Given the description of an element on the screen output the (x, y) to click on. 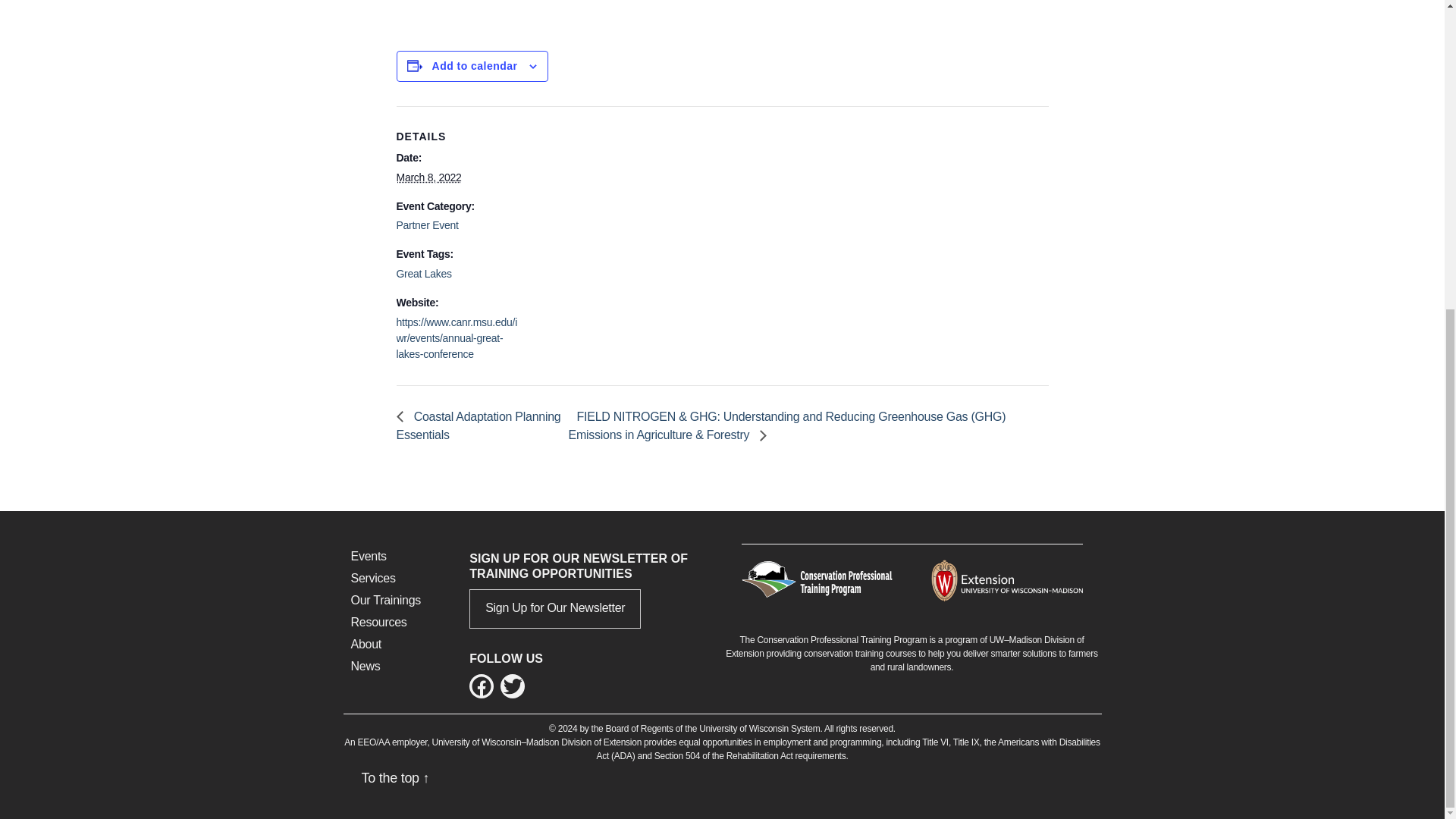
Add to calendar (475, 65)
Info here. (423, 1)
Resources (378, 621)
Partner Event (427, 224)
Our Trainings (385, 599)
Great Lakes (423, 273)
2022-03-08 (428, 177)
Opens in a new tab (1007, 580)
Events (367, 555)
Services (372, 577)
